Given the description of an element on the screen output the (x, y) to click on. 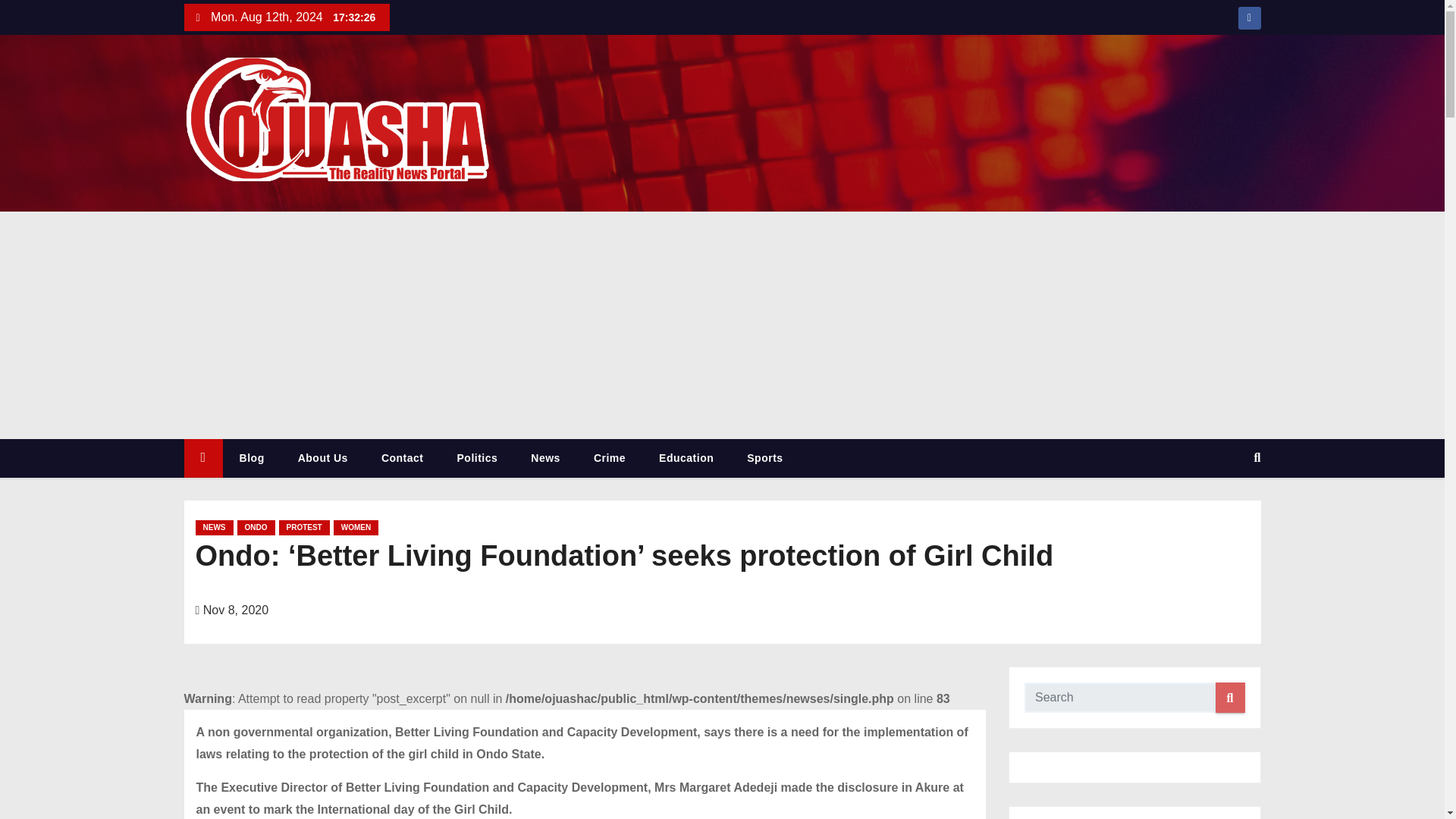
About Us (323, 457)
Blog (251, 457)
ONDO (255, 527)
Education (686, 457)
Crime (609, 457)
Politics (478, 457)
Crime (609, 457)
About Us (323, 457)
Contact (403, 457)
Sports (764, 457)
